Given the description of an element on the screen output the (x, y) to click on. 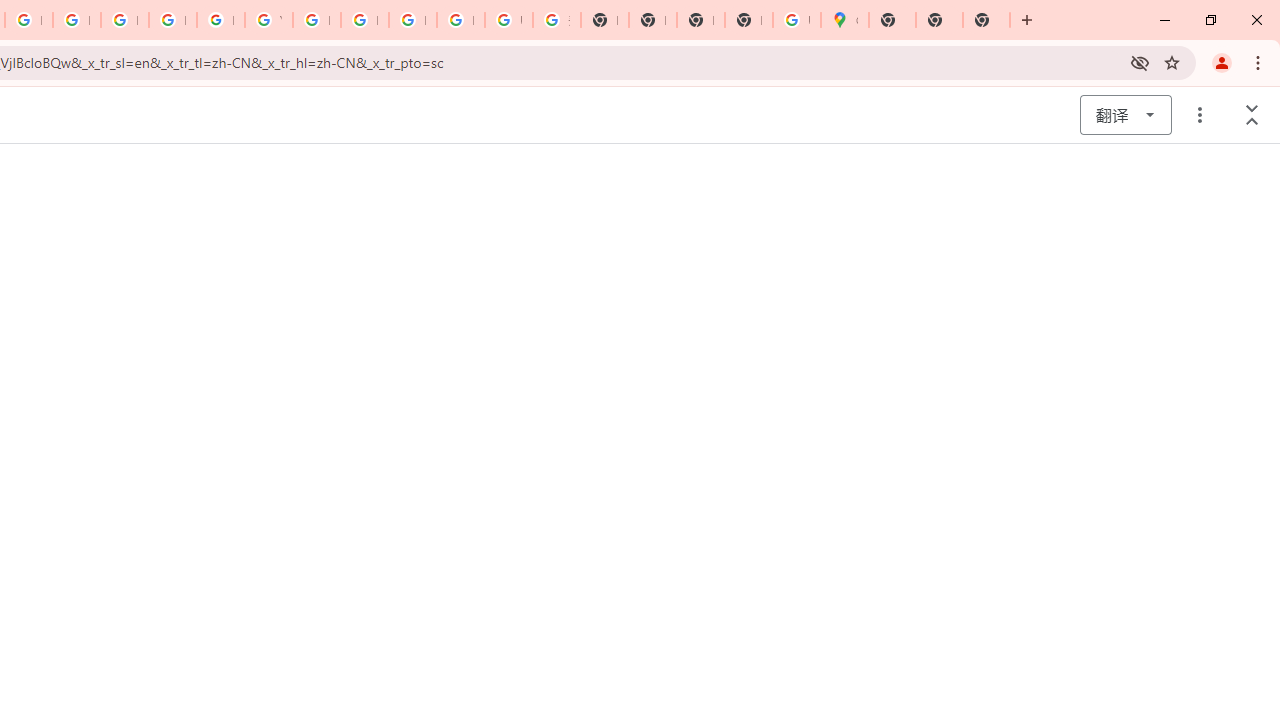
New Tab (985, 20)
Use Google Maps in Space - Google Maps Help (796, 20)
Privacy Help Center - Policies Help (124, 20)
New Tab (939, 20)
Google Maps (844, 20)
